Given the description of an element on the screen output the (x, y) to click on. 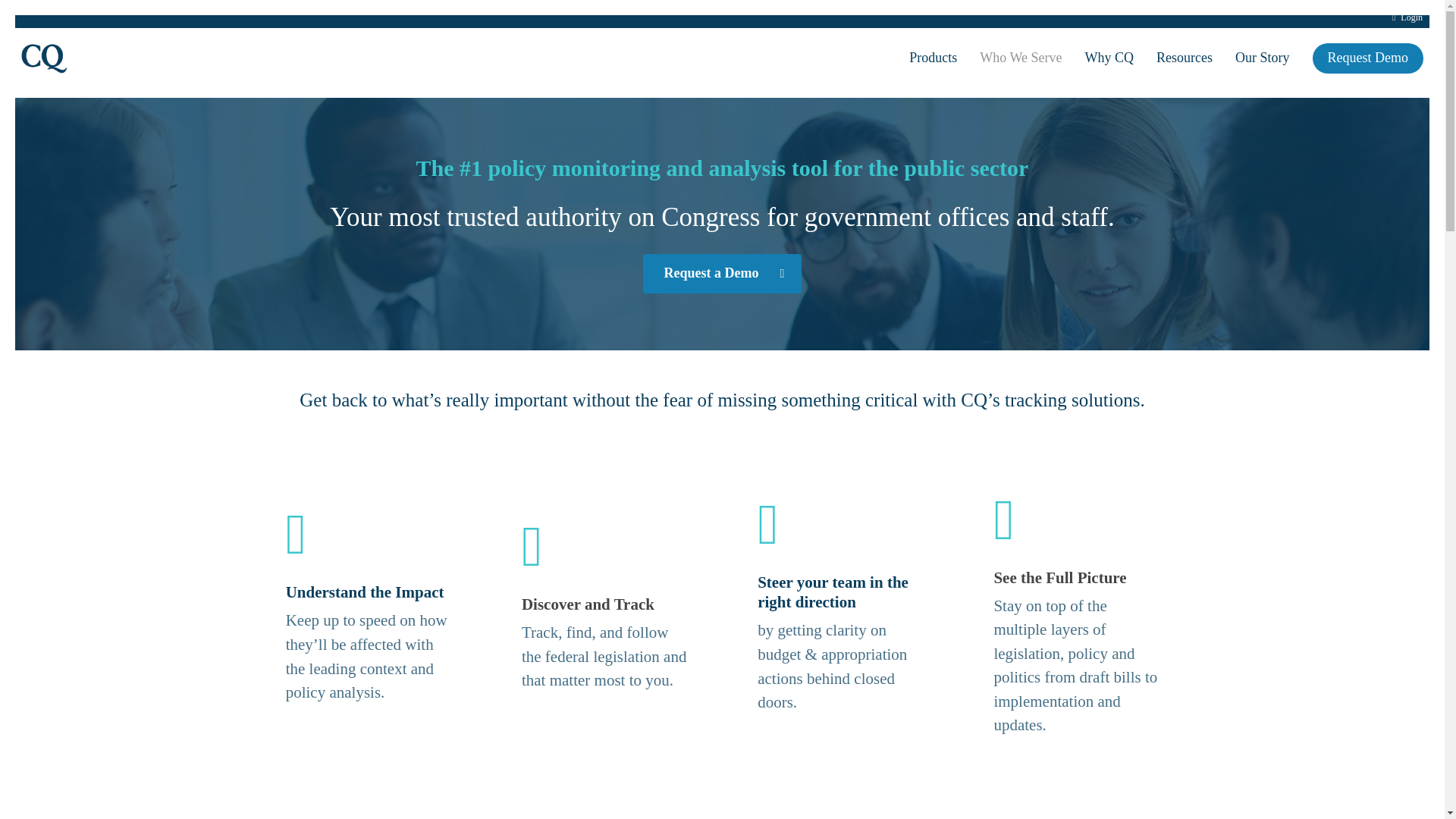
Our Story (1262, 57)
Products (933, 57)
Request Demo (1368, 57)
Resources (1184, 57)
Request a Demo (722, 273)
Who We Serve (1020, 57)
Why CQ (1109, 57)
Login (1406, 17)
